Given the description of an element on the screen output the (x, y) to click on. 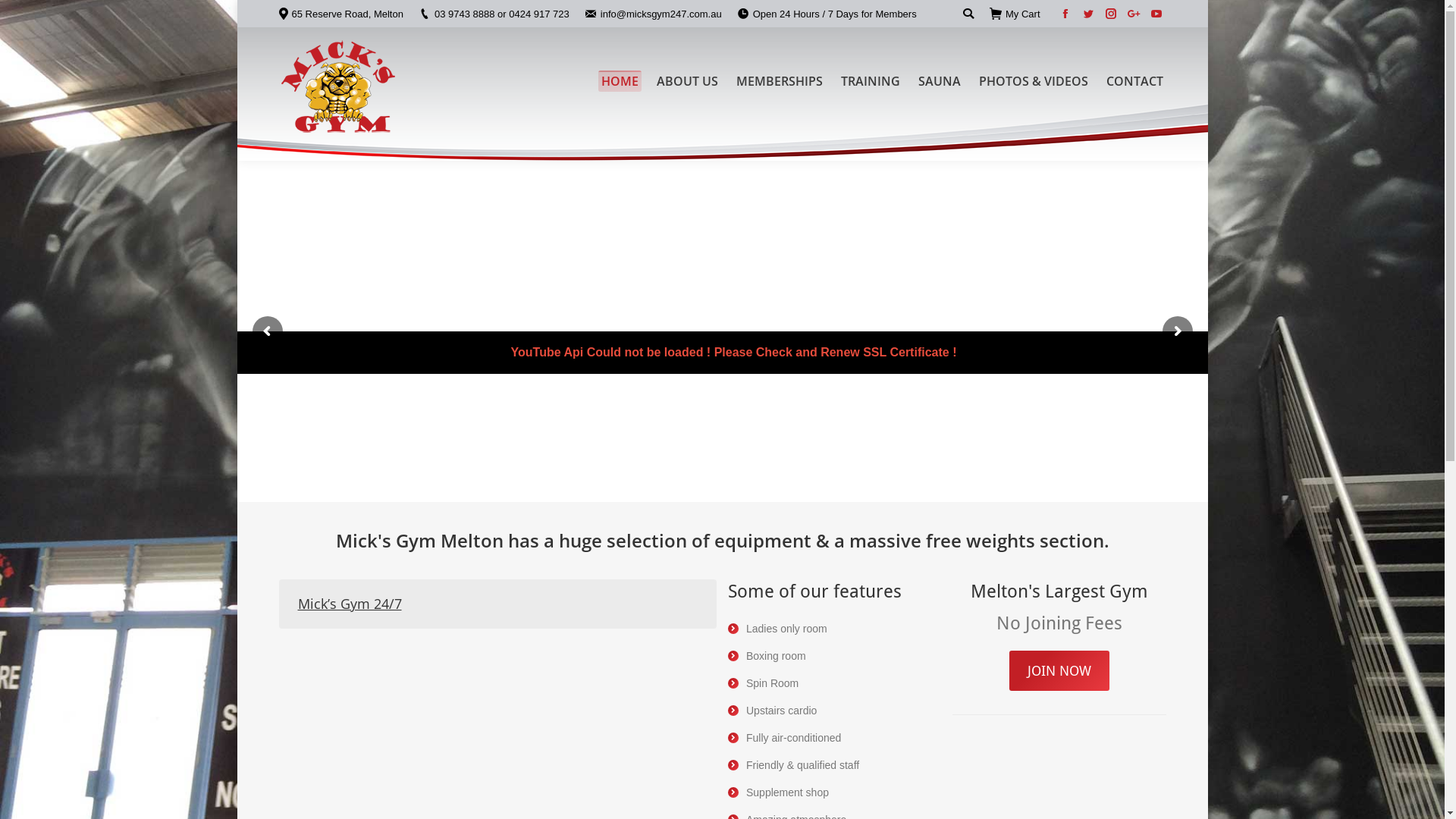
Go! Element type: text (21, 14)
Facebook Element type: text (1065, 13)
MEMBERSHIPS Element type: text (778, 80)
PHOTOS & VIDEOS Element type: text (1032, 80)
JOIN NOW Element type: text (1059, 670)
Twitter Element type: text (1088, 13)
info@micksgym247.com.au Element type: text (660, 13)
HOME Element type: text (618, 80)
CONTACT Element type: text (1133, 80)
ABOUT US Element type: text (687, 80)
My Cart Element type: text (1014, 13)
Google+ Element type: text (1133, 13)
Instagram Element type: text (1110, 13)
YouTube Element type: text (1156, 13)
TRAINING Element type: text (869, 80)
SAUNA Element type: text (938, 80)
